Given the description of an element on the screen output the (x, y) to click on. 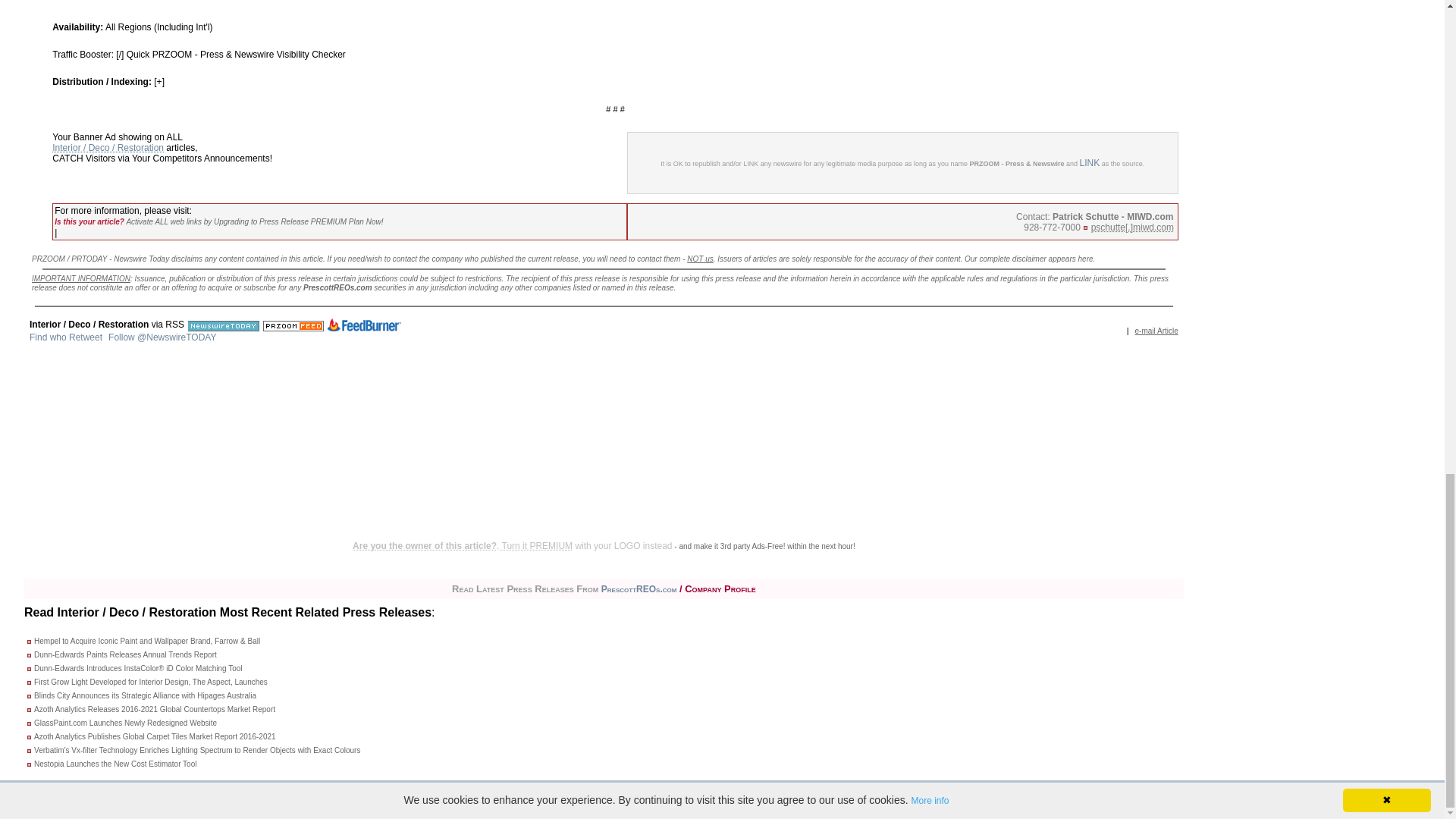
Find who Retweet (65, 337)
here (1085, 258)
LINK (1090, 163)
